Given the description of an element on the screen output the (x, y) to click on. 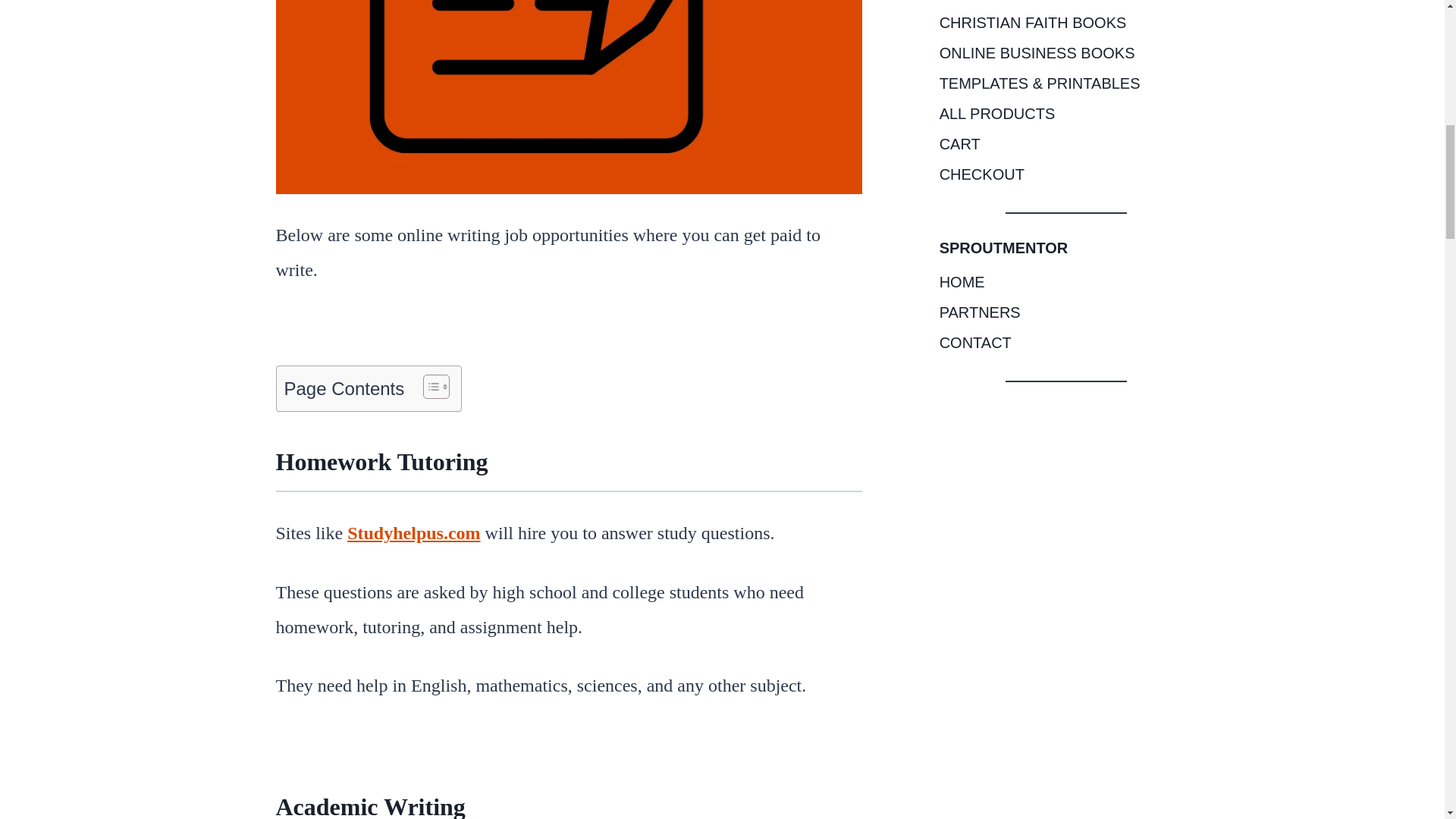
Studyhelpus.com (413, 532)
